Given the description of an element on the screen output the (x, y) to click on. 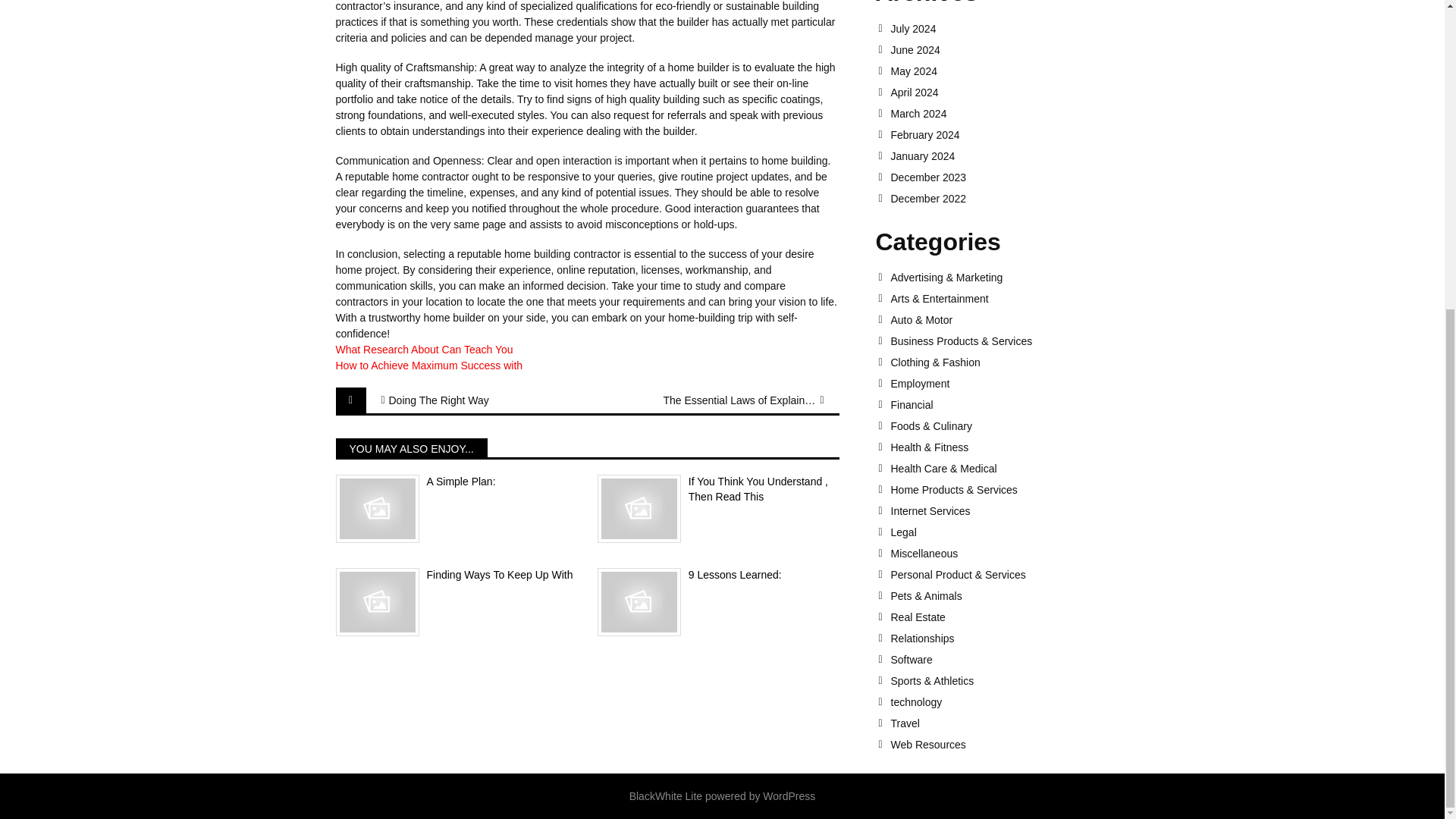
May 2024 (998, 70)
What Research About Can Teach You (423, 349)
February 2024 (998, 134)
April 2024 (998, 92)
January 2024 (998, 155)
Employment (998, 383)
June 2024 (998, 50)
December 2023 (998, 177)
Financial (998, 404)
A Simple Plan: (455, 482)
How to Achieve Maximum Success with (428, 365)
Doing The Right Way (464, 400)
July 2024 (998, 28)
Finding Ways To Keep Up With (455, 575)
March 2024 (998, 113)
